Given the description of an element on the screen output the (x, y) to click on. 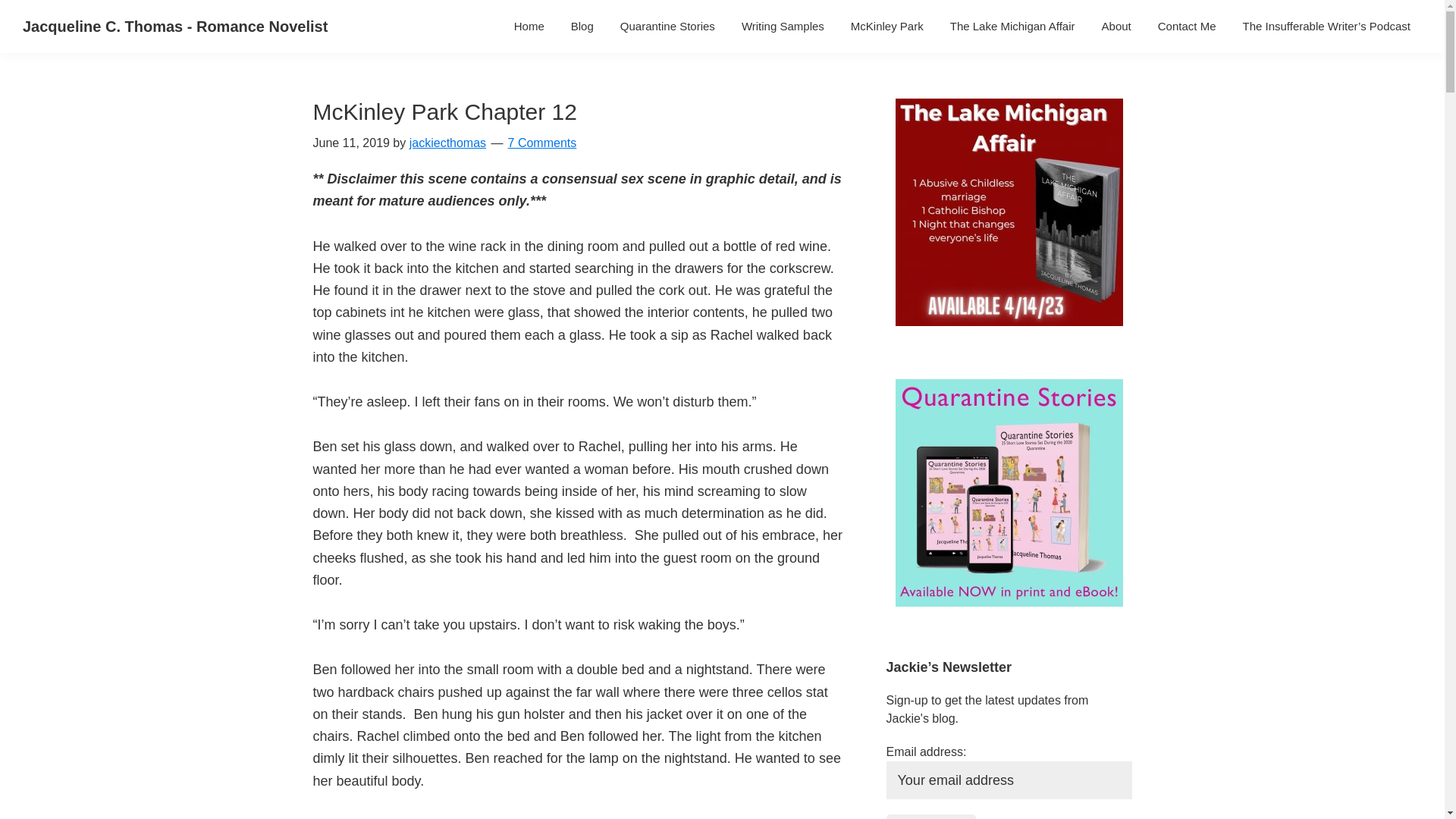
Quarantine Stories (667, 25)
Home (529, 25)
jackiecthomas (447, 142)
Blog (582, 25)
McKinley Park (887, 25)
Contact Me (1187, 25)
7 Comments (542, 142)
Jacqueline C. Thomas - Romance Novelist (175, 26)
Writing Samples (782, 25)
About (1116, 25)
Sign up (930, 816)
The Lake Michigan Affair (1012, 25)
